Given the description of an element on the screen output the (x, y) to click on. 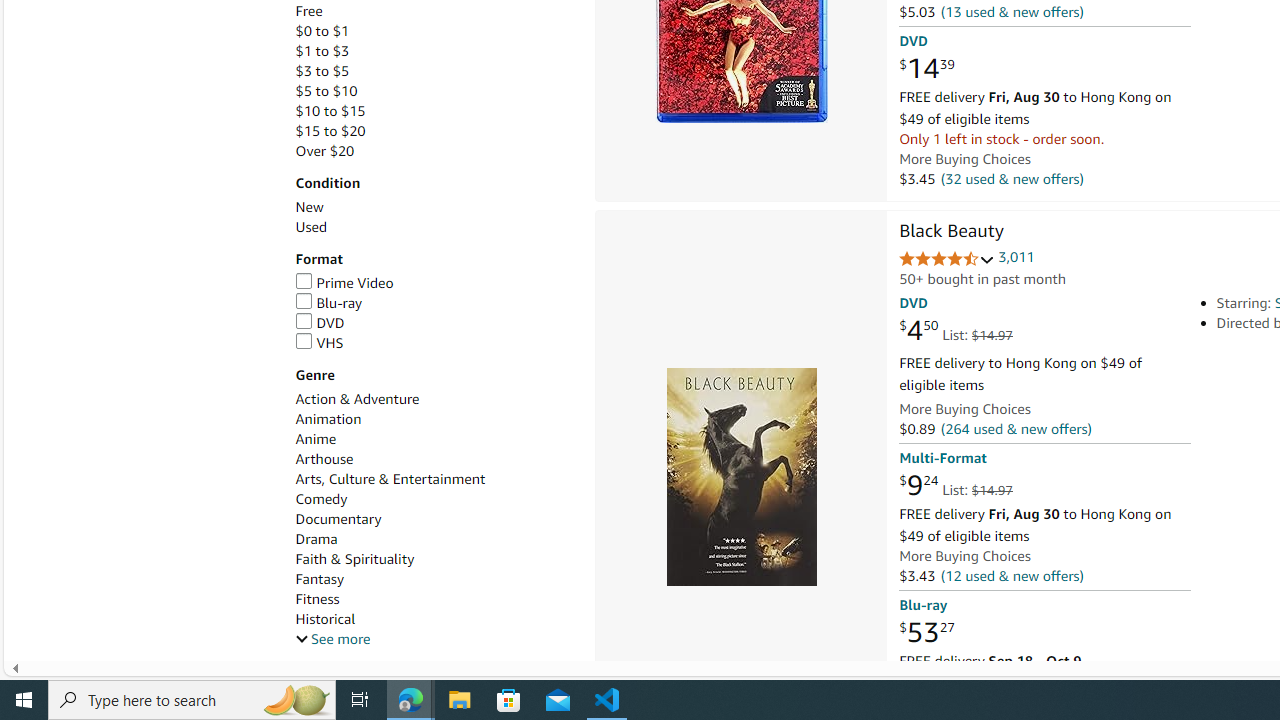
New (434, 207)
Animation (434, 419)
Blu-ray (434, 303)
(32 used & new offers) (1011, 178)
Action & Adventure (356, 399)
Drama (315, 538)
$0 to $1 (321, 31)
Faith & Spirituality (434, 559)
Multi-Format (942, 458)
Used (434, 227)
Historical (324, 619)
Fantasy (319, 579)
Faith & Spirituality (354, 559)
Arts, Culture & Entertainment (390, 479)
